Given the description of an element on the screen output the (x, y) to click on. 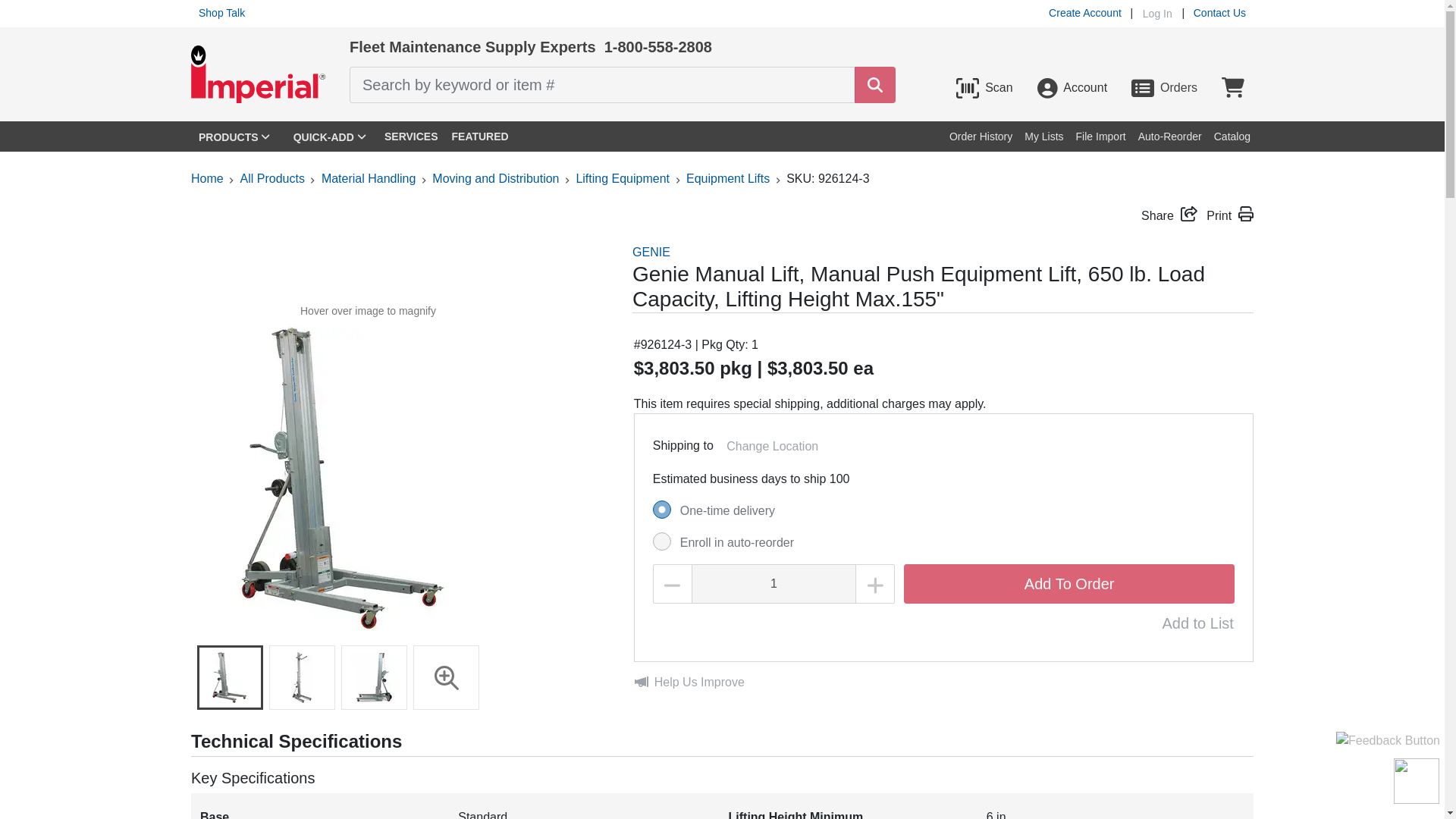
File Import (1100, 136)
GENIE (650, 251)
Moving and Distribution (495, 178)
Add To Order (1069, 583)
Shop Talk (221, 12)
QUICK-ADD (329, 137)
Add to List (1197, 622)
Account (1071, 87)
All Products (272, 178)
Material Handling (368, 178)
